Given the description of an element on the screen output the (x, y) to click on. 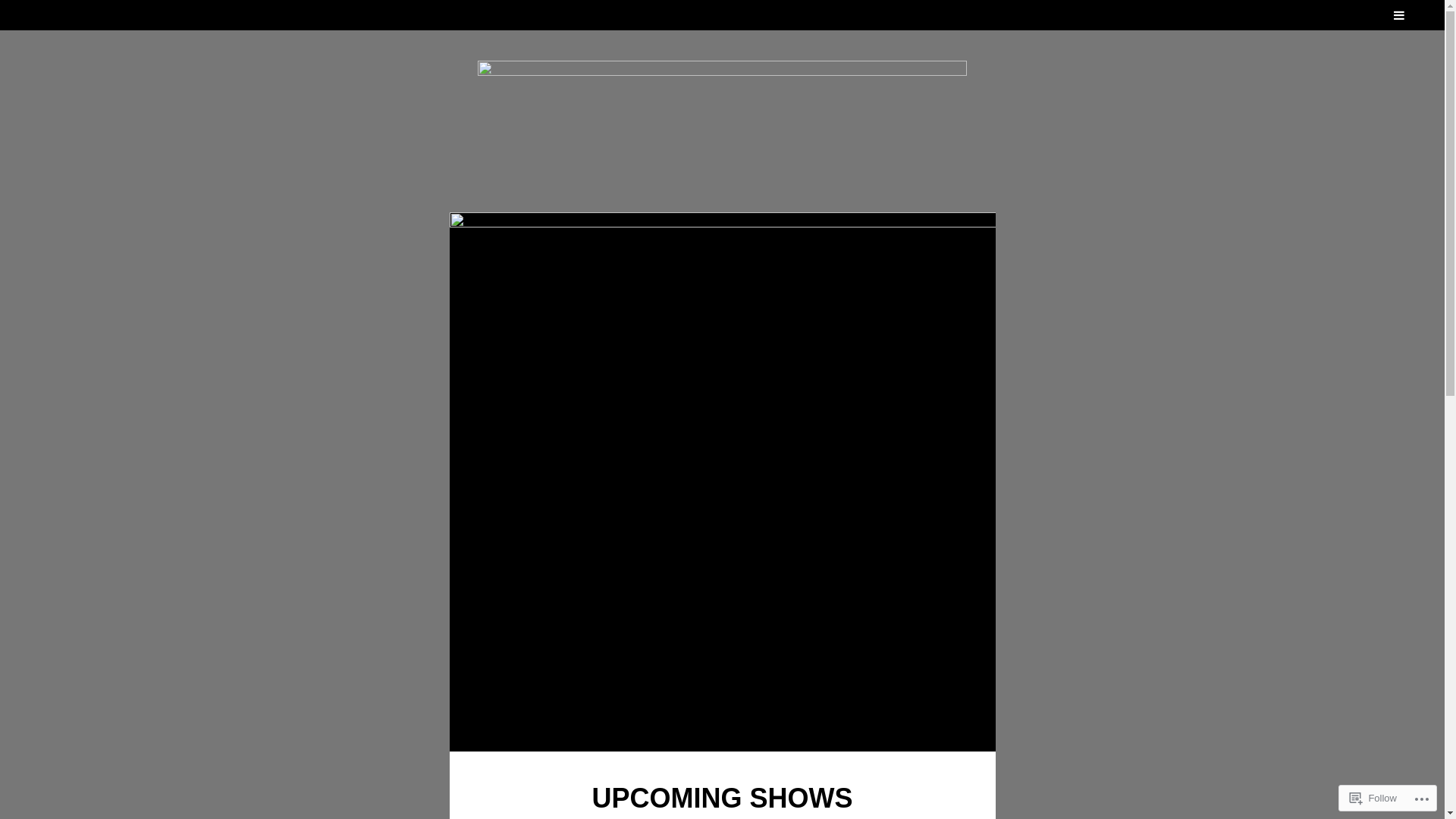
Burnsy Element type: hover (721, 121)
BURNSY Element type: text (779, 76)
Follow Element type: text (1372, 797)
